Given the description of an element on the screen output the (x, y) to click on. 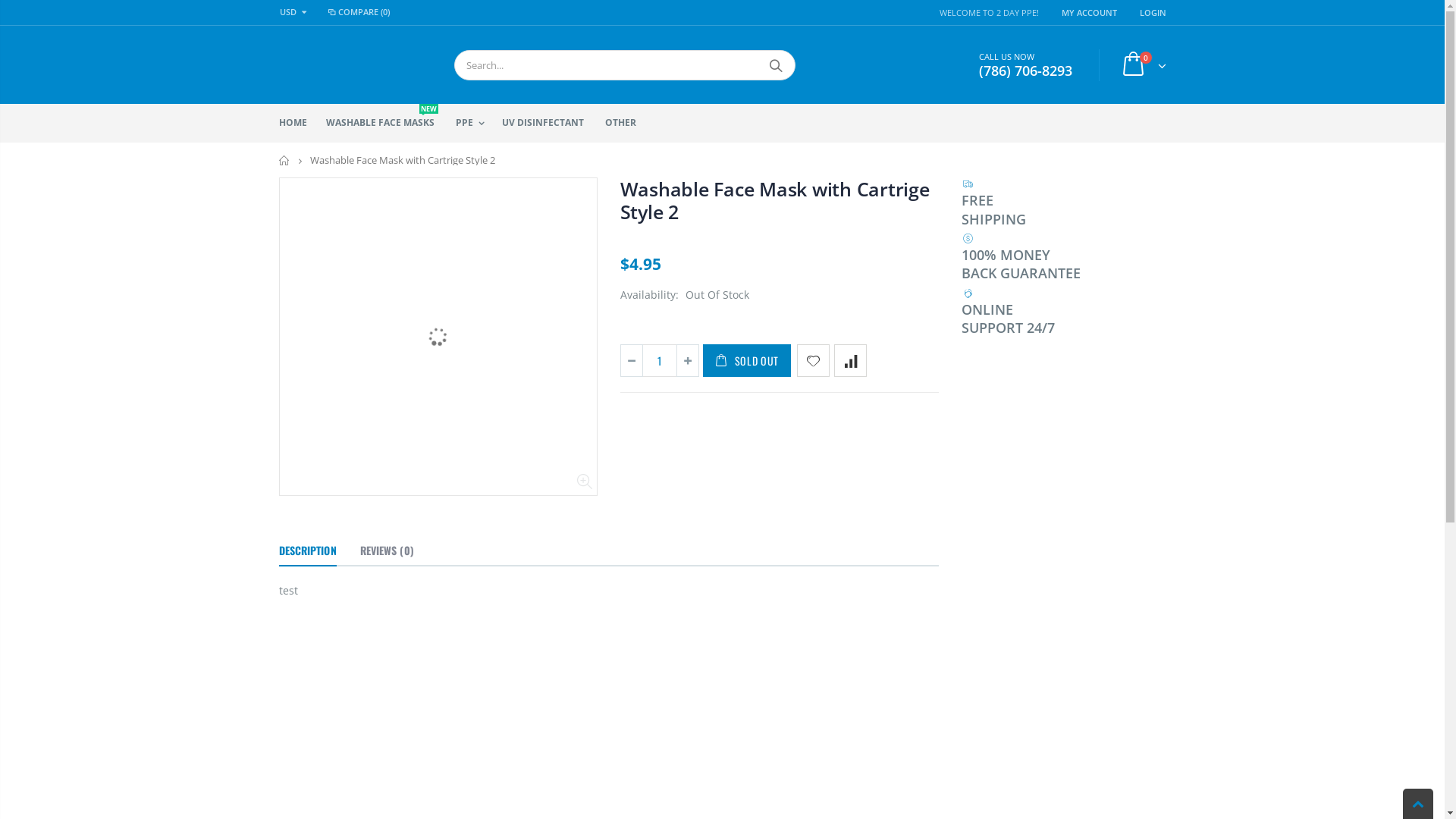
Add to wishlist Element type: hover (813, 360)
0 Element type: text (1140, 64)
Search Element type: text (775, 64)
USD Element type: text (295, 11)
Washable Face Mask with Cartrige Style 2 Element type: text (774, 199)
Add to compare Element type: hover (850, 360)
HOME Element type: text (298, 122)
WASHABLE FACE MASKS
NEW Element type: text (385, 122)
DESCRIPTION Element type: text (307, 551)
COMPARE (0) Element type: text (358, 11)
PPE Element type: text (473, 122)
Home Element type: text (284, 160)
OTHER Element type: text (626, 122)
SOLD OUT Element type: text (746, 360)
LOGIN Element type: text (1152, 12)
REVIEWS (0) Element type: text (387, 551)
UV DISINFECTANT Element type: text (548, 122)
MY ACCOUNT Element type: text (1089, 12)
